Given the description of an element on the screen output the (x, y) to click on. 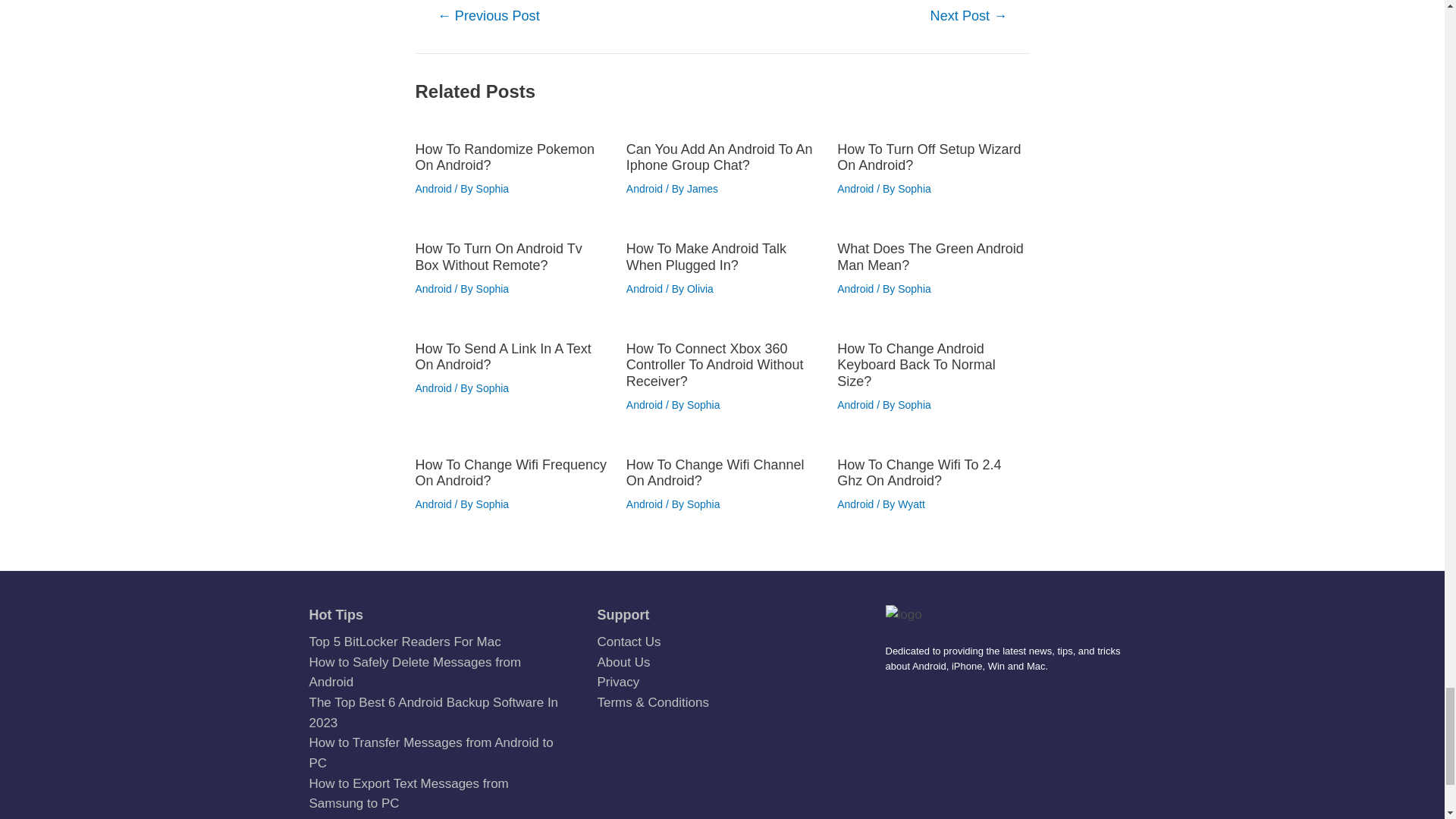
View all posts by Sophia (492, 288)
View all posts by Sophia (914, 188)
View all posts by Olivia (700, 288)
View all posts by James (702, 188)
View all posts by Sophia (492, 188)
